Given the description of an element on the screen output the (x, y) to click on. 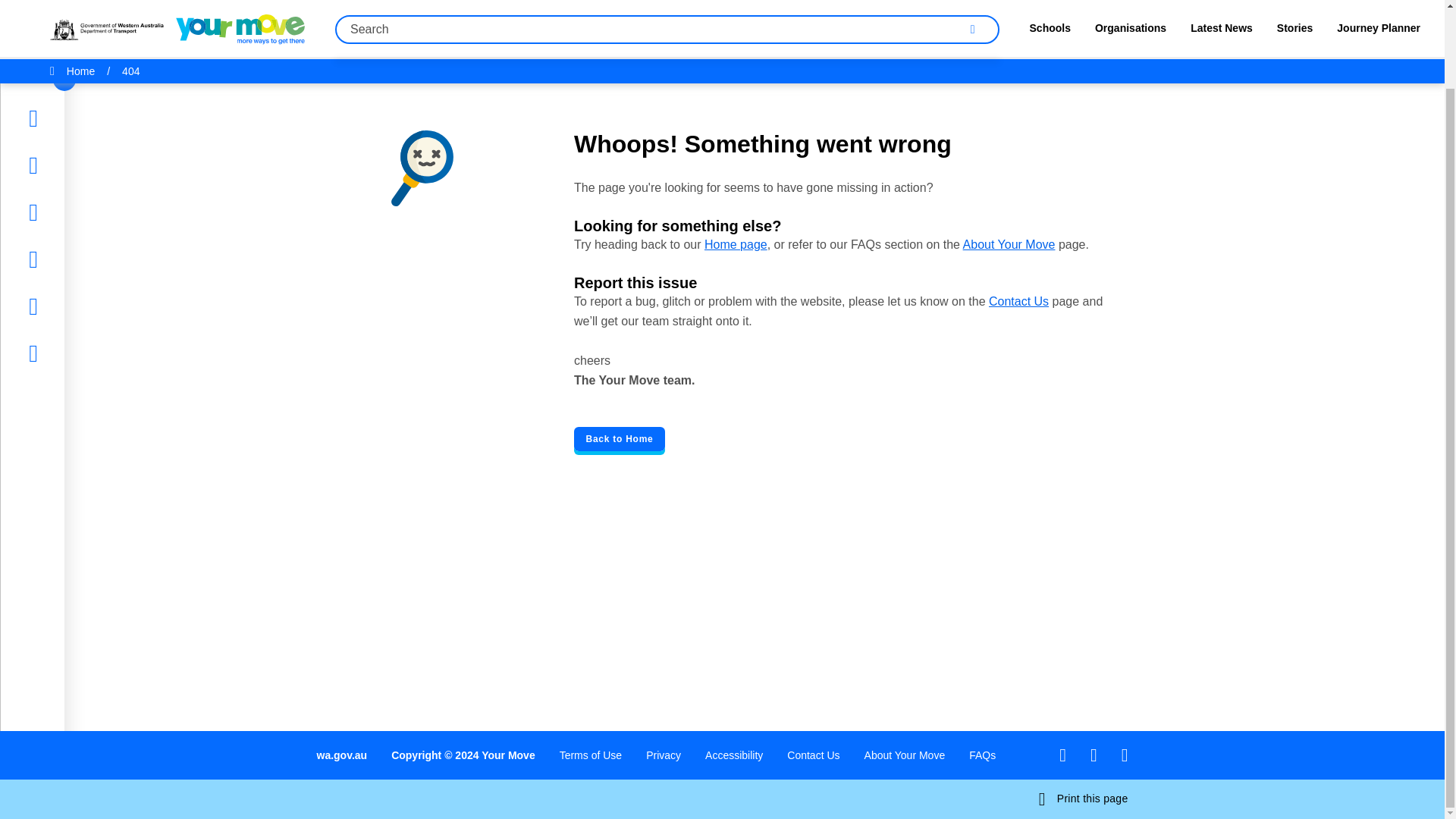
Contact Us (1018, 300)
Register (65, 265)
wa.gov.au (342, 755)
Terms of Use (590, 755)
Journey Planner (87, 218)
Accessibility (733, 755)
toggle side navigation (63, 1)
Latest News (77, 124)
Stories (61, 77)
Back to Home (619, 438)
Resources (71, 170)
Contact Us (813, 755)
Privacy (663, 755)
Home (59, 29)
Home page (735, 244)
